Given the description of an element on the screen output the (x, y) to click on. 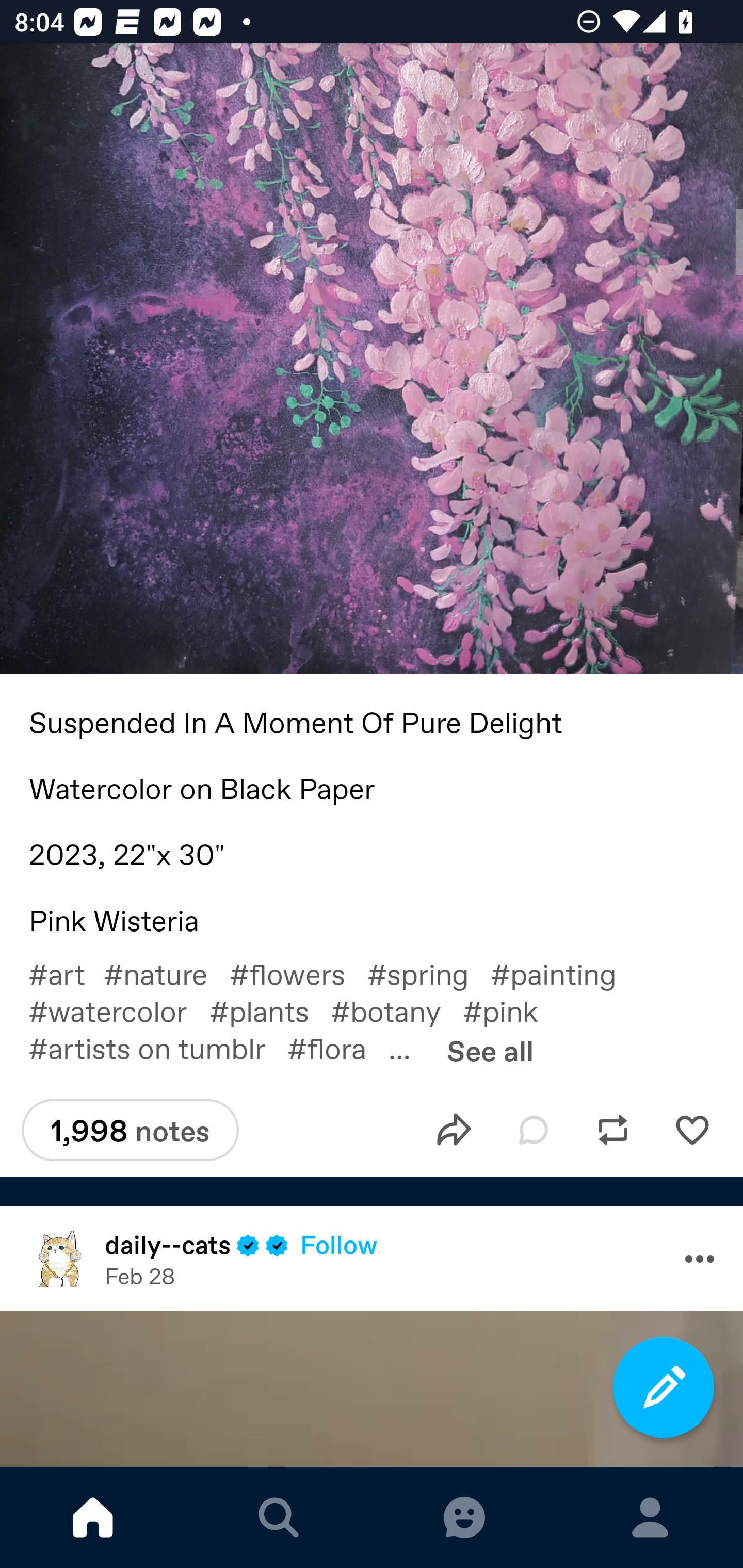
#art (66, 973)
#nature (166, 973)
#flowers (298, 973)
#spring (428, 973)
#painting (564, 973)
#watercolor (118, 1010)
#plants (269, 1010)
#botany (396, 1010)
#pink (510, 1010)
#artists on tumblr (157, 1047)
#flora (337, 1047)
… (410, 1047)
See all (490, 1050)
Share post to message (454, 1130)
Reblog (612, 1130)
Like (691, 1130)
1,998 notes (130, 1129)
Follow (338, 1243)
Compose a new post (663, 1387)
DASHBOARD (92, 1517)
EXPLORE (278, 1517)
MESSAGES (464, 1517)
ACCOUNT (650, 1517)
